Given the description of an element on the screen output the (x, y) to click on. 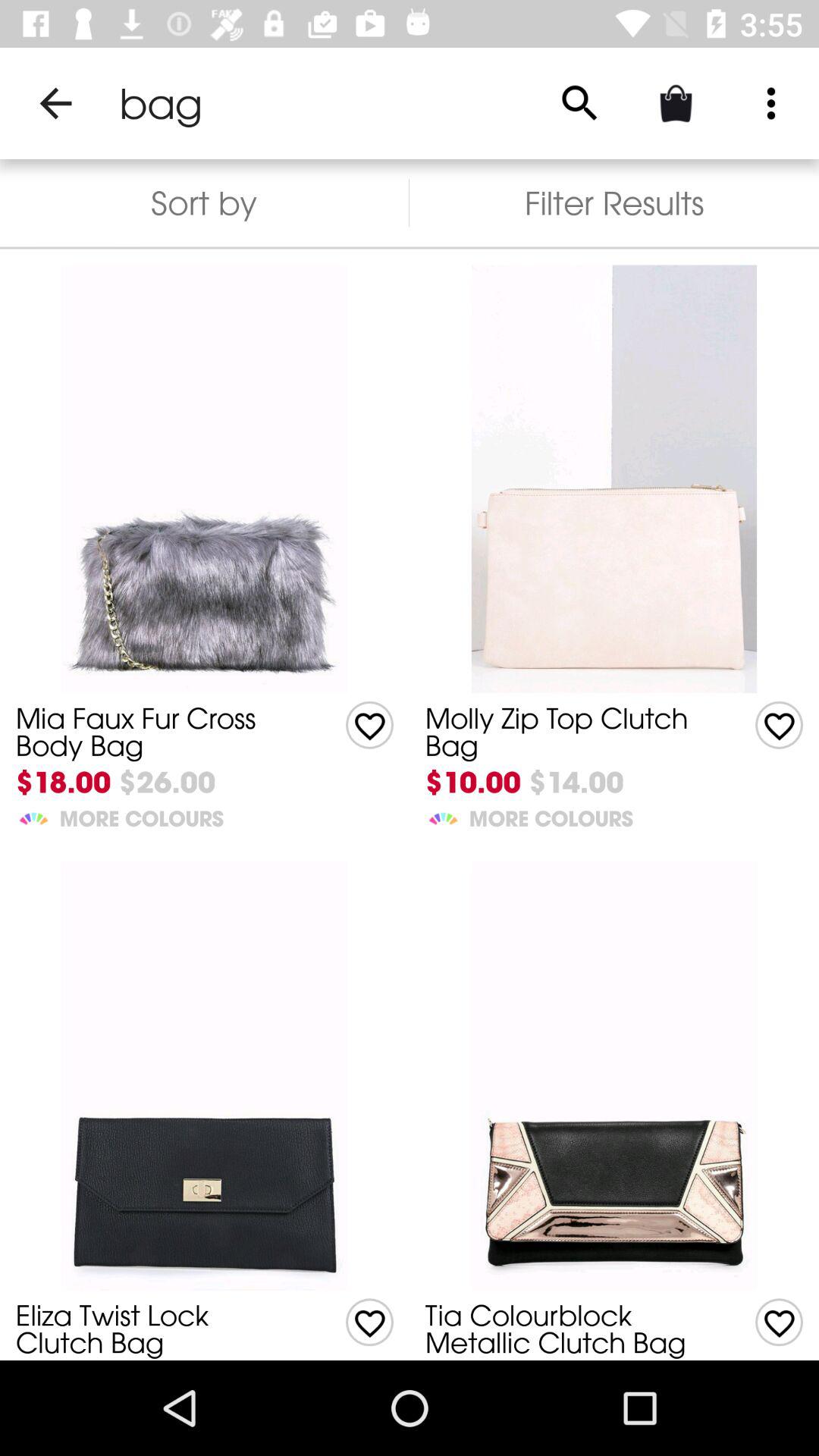
like (779, 725)
